Given the description of an element on the screen output the (x, y) to click on. 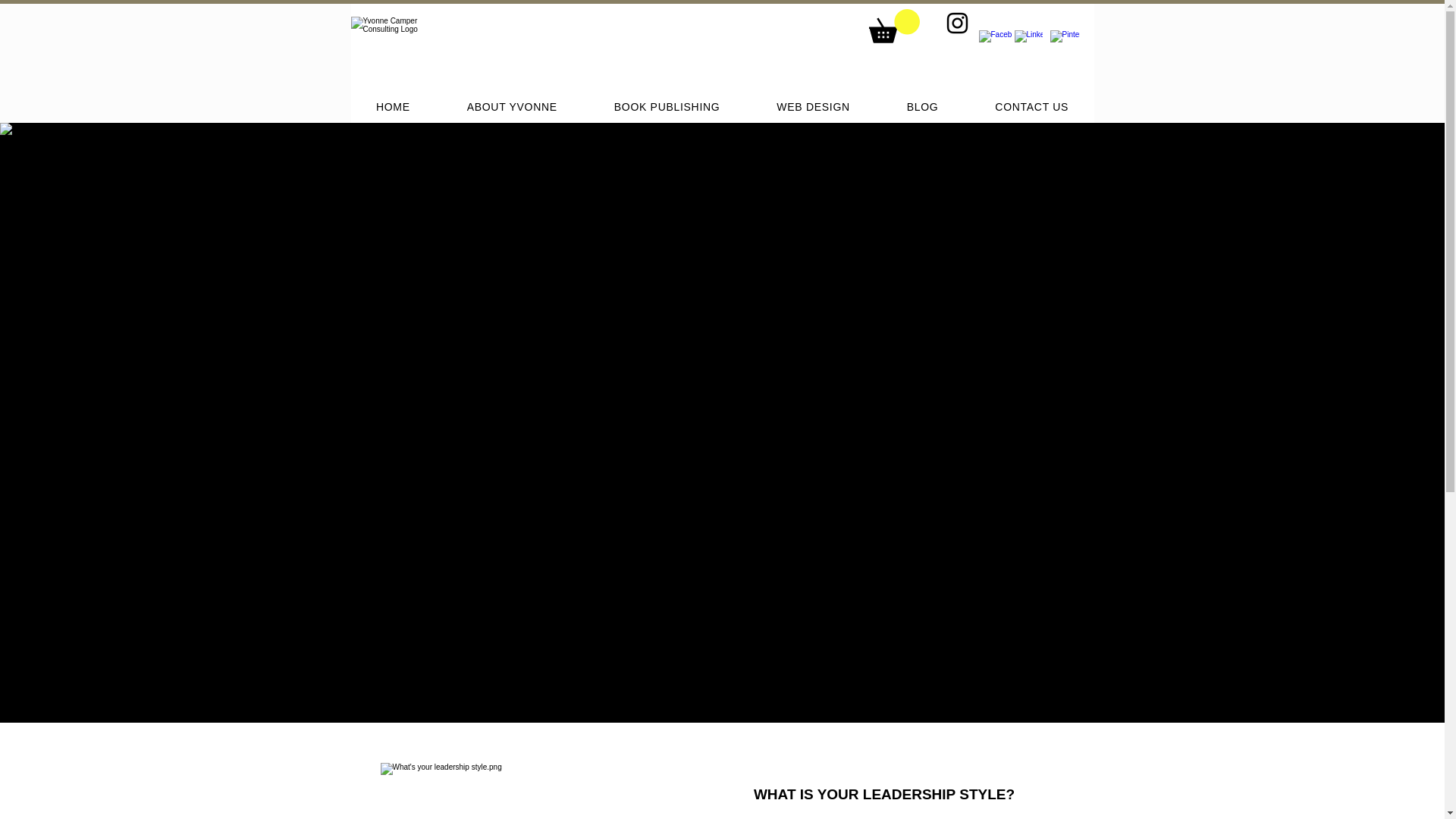
BOOK PUBLISHING (666, 106)
HOME (392, 106)
ABOUT YVONNE (511, 106)
CONTACT US (1031, 106)
BLOG (921, 106)
WEB DESIGN (813, 106)
